Given the description of an element on the screen output the (x, y) to click on. 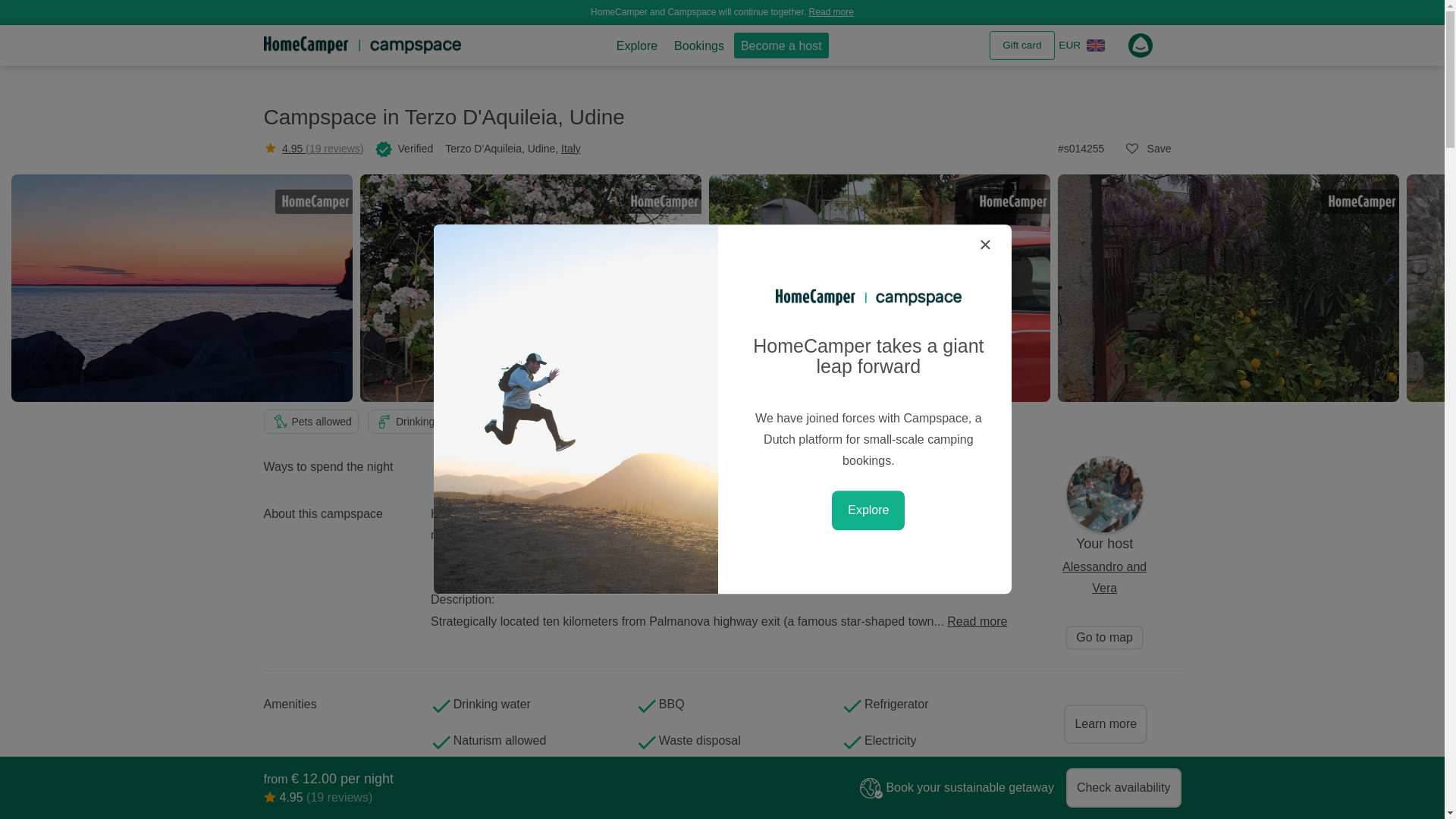
Gift card (1022, 45)
Read more (831, 11)
Become a host (780, 45)
EUR (1070, 45)
Bookings (698, 45)
Explore (636, 45)
English (1095, 45)
